Given the description of an element on the screen output the (x, y) to click on. 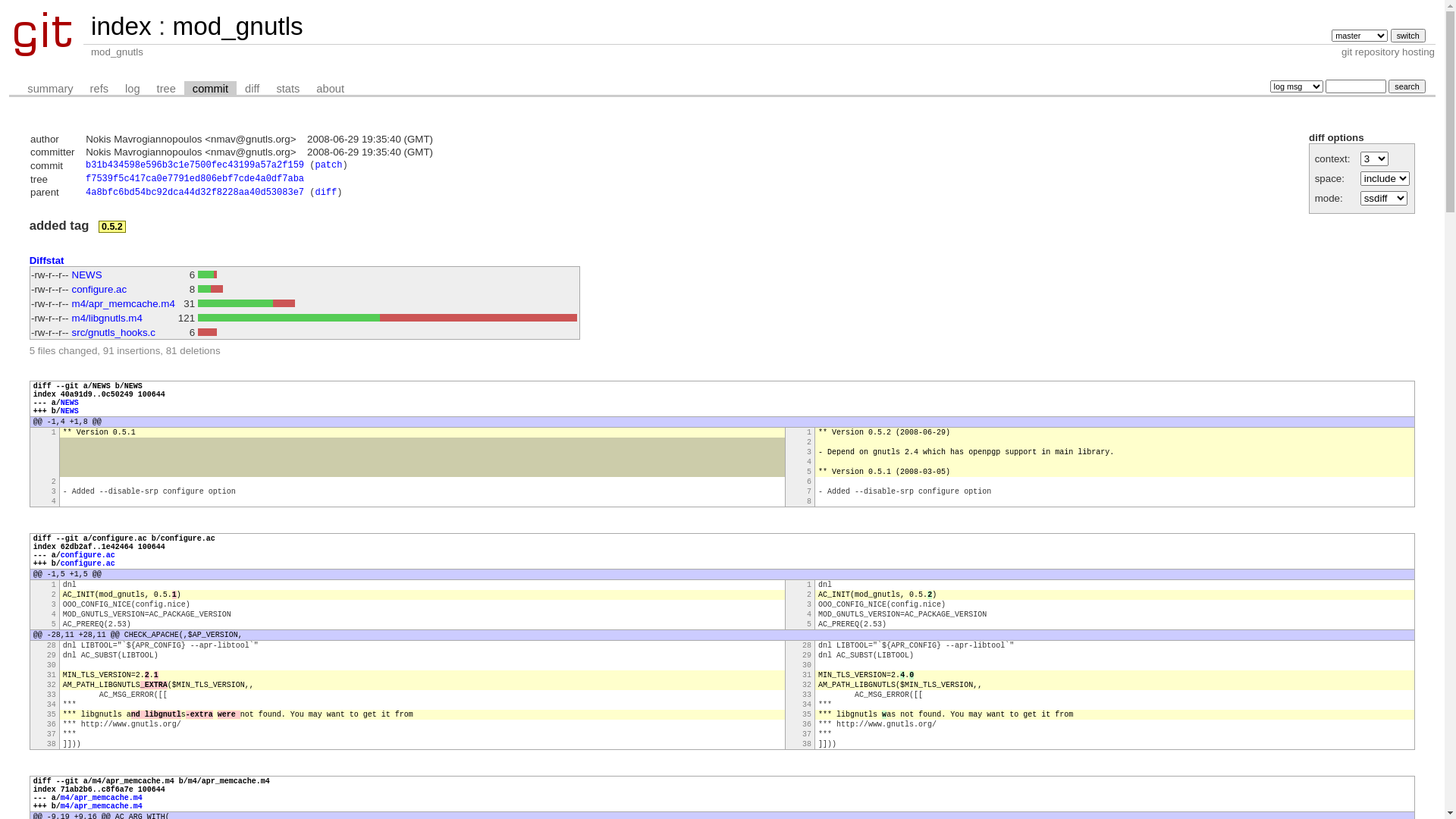
mod_gnutls Element type: text (237, 26)
diff Element type: text (251, 88)
2 Element type: text (53, 481)
4 Element type: text (53, 613)
6 Element type: text (808, 481)
36 Element type: text (51, 724)
src/gnutls_hooks.c Element type: text (113, 332)
4a8bfc6bd54bc92dca44d32f8228aa40d53083e7 Element type: text (194, 192)
b31b434598e596b3c1e7500fec43199a57a2f159 Element type: text (194, 165)
1 Element type: text (53, 431)
7 Element type: text (808, 490)
Diffstat Element type: text (46, 260)
28 Element type: text (806, 645)
switch Element type: text (1407, 35)
configure.ac Element type: text (87, 554)
33 Element type: text (51, 694)
3 Element type: text (53, 490)
3 Element type: text (808, 451)
1 Element type: text (808, 584)
configure.ac Element type: text (99, 288)
34 Element type: text (51, 704)
NEWS Element type: text (69, 410)
5 Element type: text (53, 624)
35 Element type: text (806, 713)
index Element type: text (121, 26)
37 Element type: text (806, 733)
30 Element type: text (51, 665)
5 Element type: text (808, 624)
m4/apr_memcache.m4 Element type: text (123, 303)
log Element type: text (132, 88)
32 Element type: text (806, 684)
30 Element type: text (806, 665)
configure.ac Element type: text (87, 563)
stats Element type: text (287, 88)
search Element type: text (1406, 86)
36 Element type: text (806, 724)
34 Element type: text (806, 704)
4 Element type: text (808, 613)
NEWS Element type: text (87, 274)
about Element type: text (329, 88)
29 Element type: text (51, 654)
37 Element type: text (51, 733)
29 Element type: text (806, 654)
1 Element type: text (53, 584)
commit Element type: text (210, 88)
refs Element type: text (98, 88)
patch Element type: text (328, 165)
m4/apr_memcache.m4 Element type: text (101, 797)
38 Element type: text (51, 744)
m4/libgnutls.m4 Element type: text (107, 317)
tree Element type: text (166, 88)
31 Element type: text (51, 674)
4 Element type: text (808, 462)
31 Element type: text (806, 674)
8 Element type: text (808, 501)
38 Element type: text (806, 744)
35 Element type: text (51, 713)
3 Element type: text (53, 604)
NEWS Element type: text (69, 402)
diff Element type: text (325, 192)
3 Element type: text (808, 604)
summary Element type: text (49, 88)
2 Element type: text (808, 442)
4 Element type: text (53, 501)
0.5.2 Element type: text (111, 226)
1 Element type: text (808, 431)
33 Element type: text (806, 694)
2 Element type: text (53, 593)
28 Element type: text (51, 645)
m4/apr_memcache.m4 Element type: text (101, 806)
5 Element type: text (808, 471)
32 Element type: text (51, 684)
f7539f5c417ca0e7791ed806ebf7cde4a0df7aba Element type: text (194, 178)
2 Element type: text (808, 593)
